Given the description of an element on the screen output the (x, y) to click on. 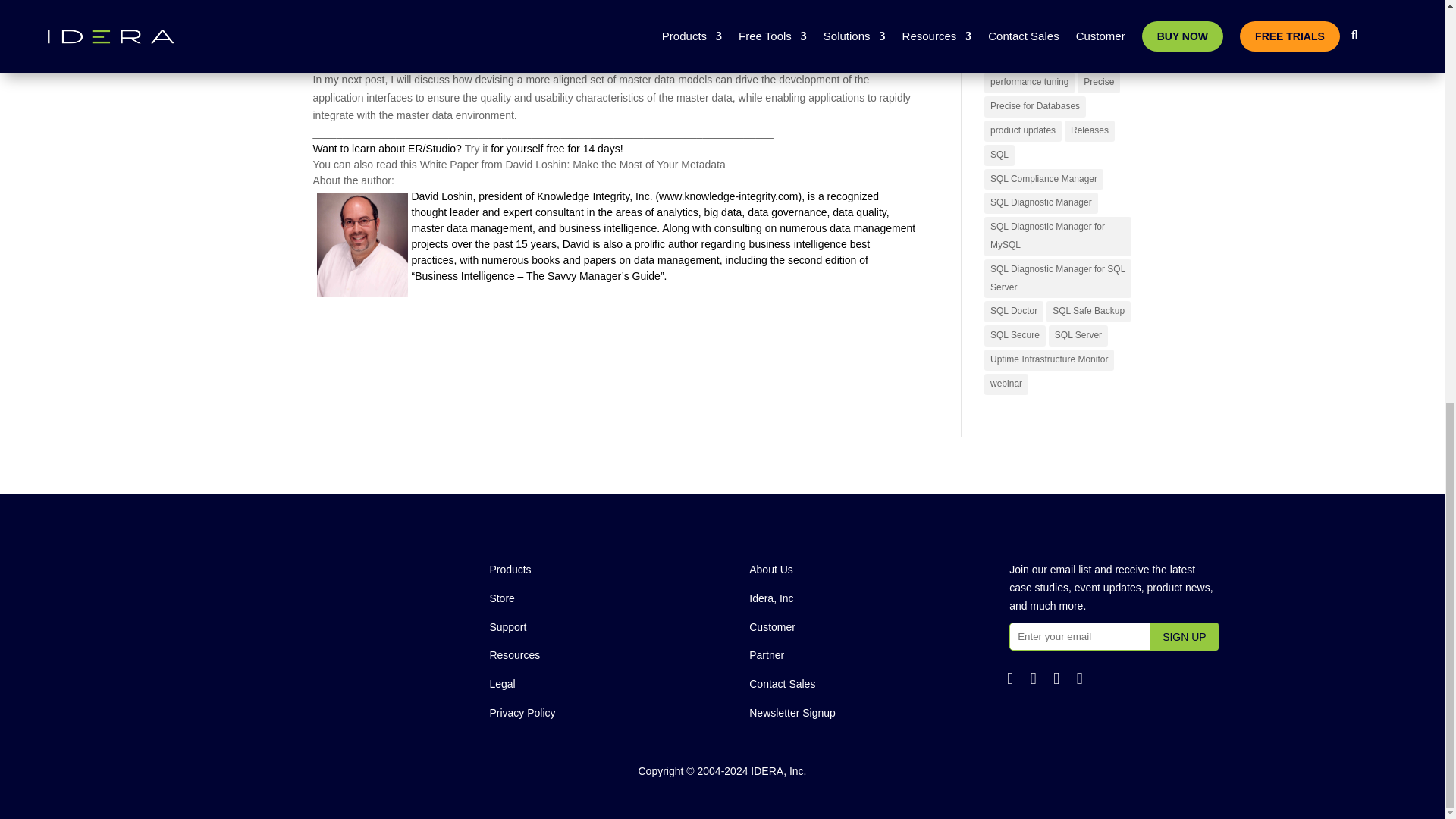
Sign up (1184, 636)
Idera-Logo (331, 562)
